Given the description of an element on the screen output the (x, y) to click on. 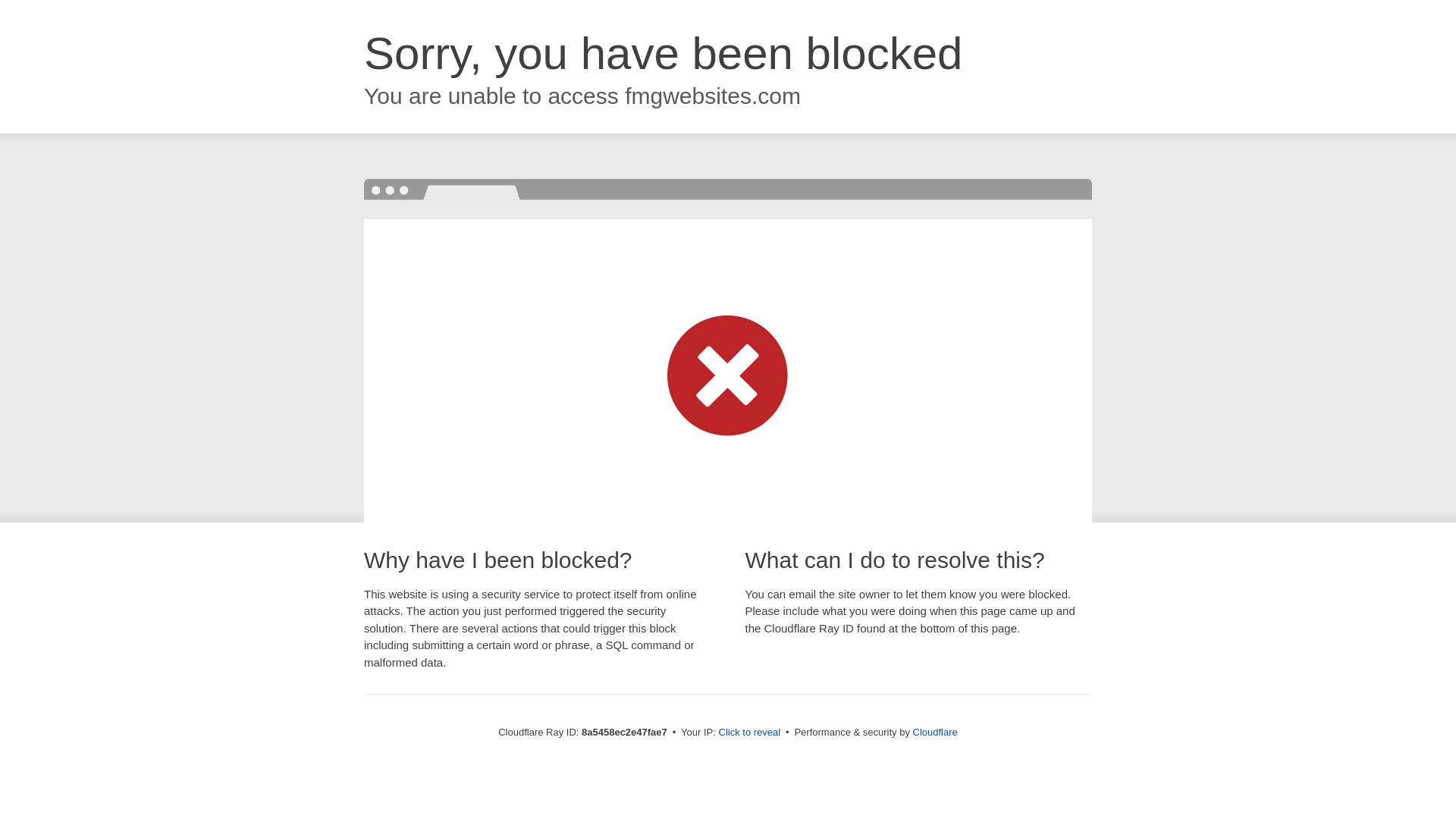
Click to reveal (749, 732)
Cloudflare (935, 731)
